Given the description of an element on the screen output the (x, y) to click on. 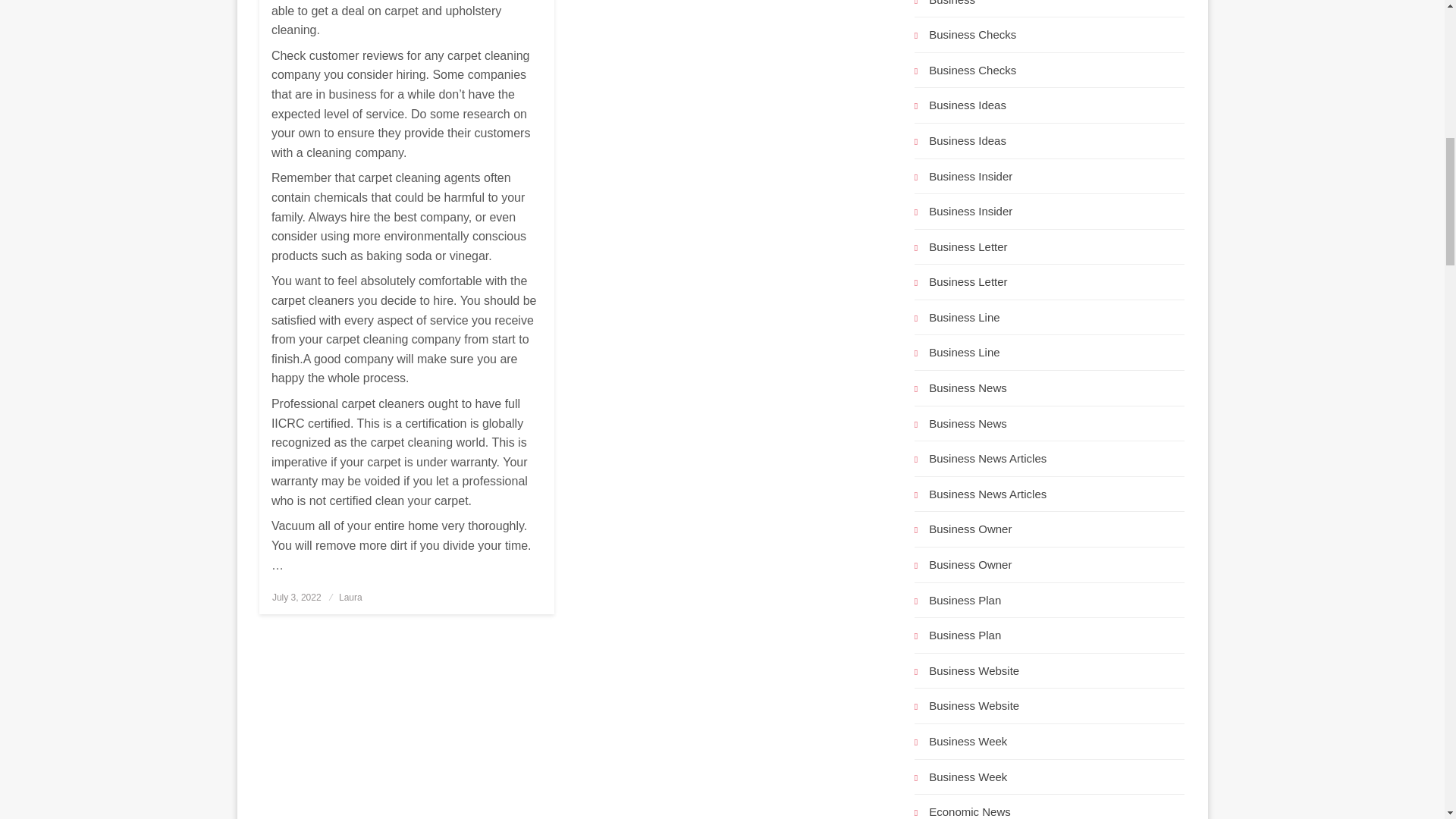
Laura (350, 597)
Laura (350, 597)
July 3, 2022 (296, 597)
